Given the description of an element on the screen output the (x, y) to click on. 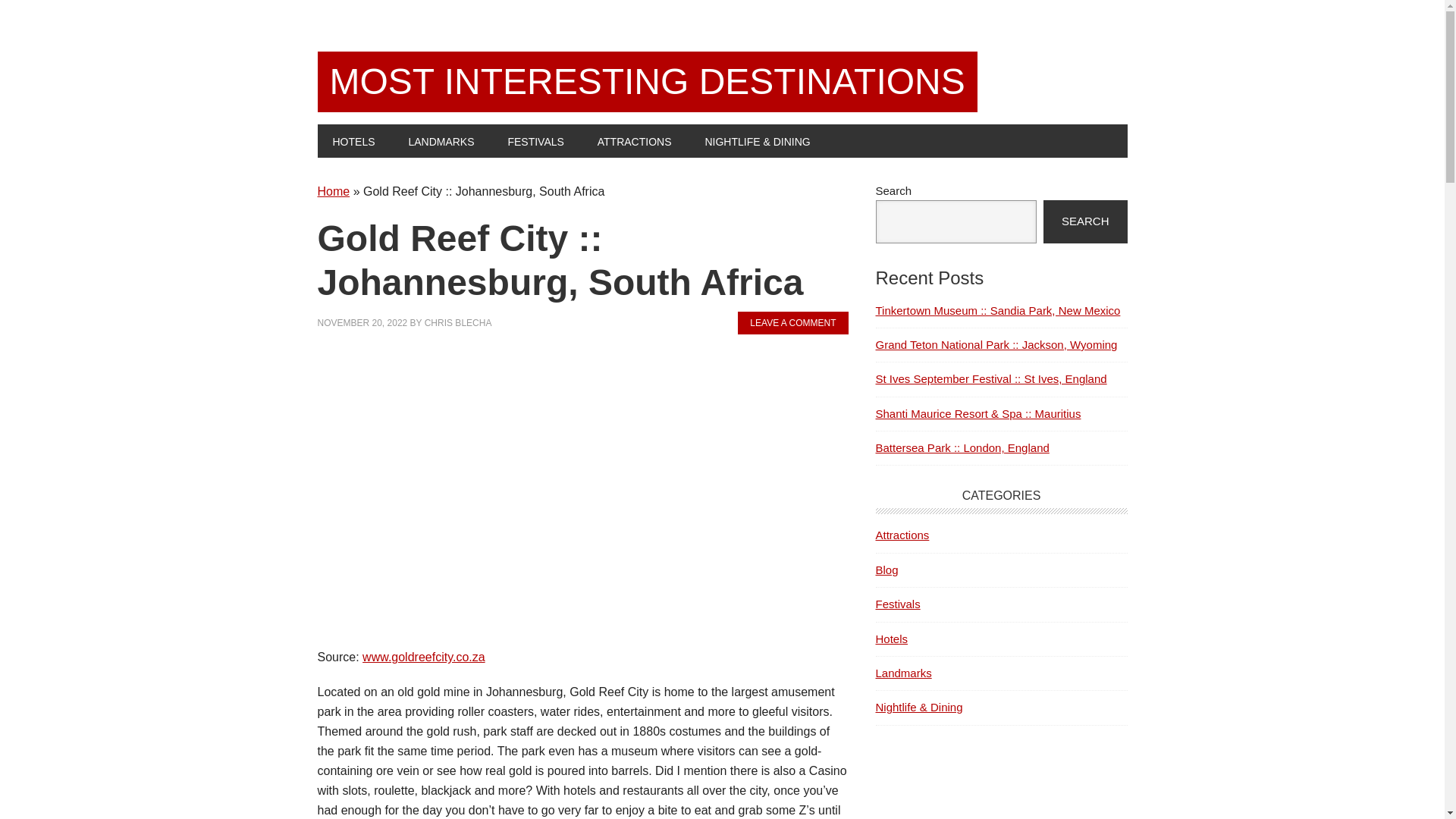
HOTELS (353, 141)
www.goldreefcity.co.za (423, 656)
Battersea Park :: London, England (961, 447)
SEARCH (1084, 220)
FESTIVALS (535, 141)
MOST INTERESTING DESTINATIONS (646, 81)
Tinkertown Museum :: Sandia Park, New Mexico (997, 309)
ATTRACTIONS (634, 141)
Landmarks (903, 672)
CHRIS BLECHA (458, 322)
Grand Teton National Park :: Jackson, Wyoming (995, 344)
Home (333, 191)
Hotels (891, 638)
St Ives September Festival :: St Ives, England (990, 378)
